Given the description of an element on the screen output the (x, y) to click on. 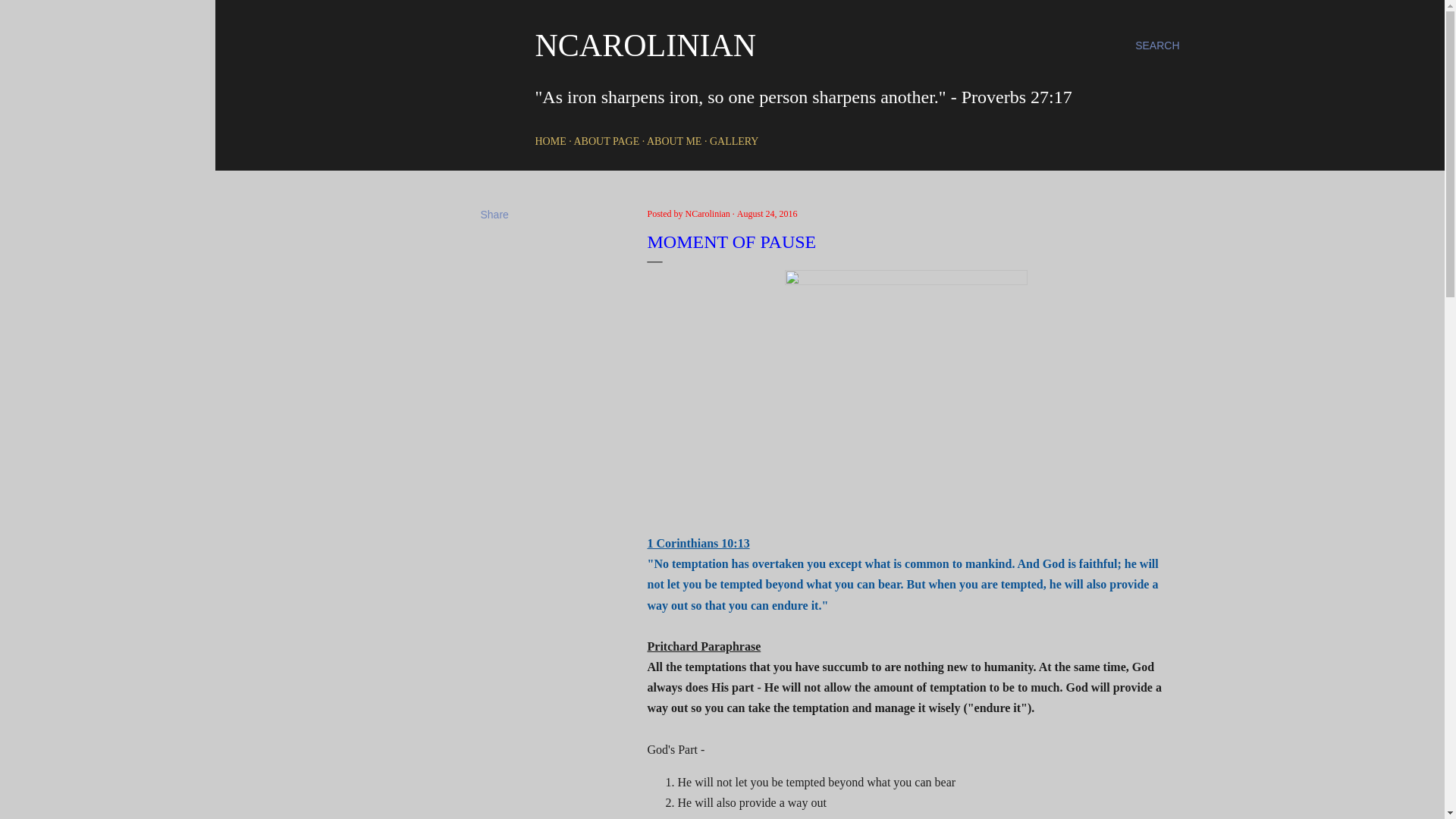
HOME (550, 141)
August 24, 2016 (766, 213)
NCarolinian (708, 213)
SEARCH (1157, 45)
permanent link (766, 213)
Share (494, 214)
ABOUT ME (673, 141)
NCAROLINIAN (646, 45)
GALLERY (734, 141)
author profile (708, 213)
ABOUT PAGE (606, 141)
